Given the description of an element on the screen output the (x, y) to click on. 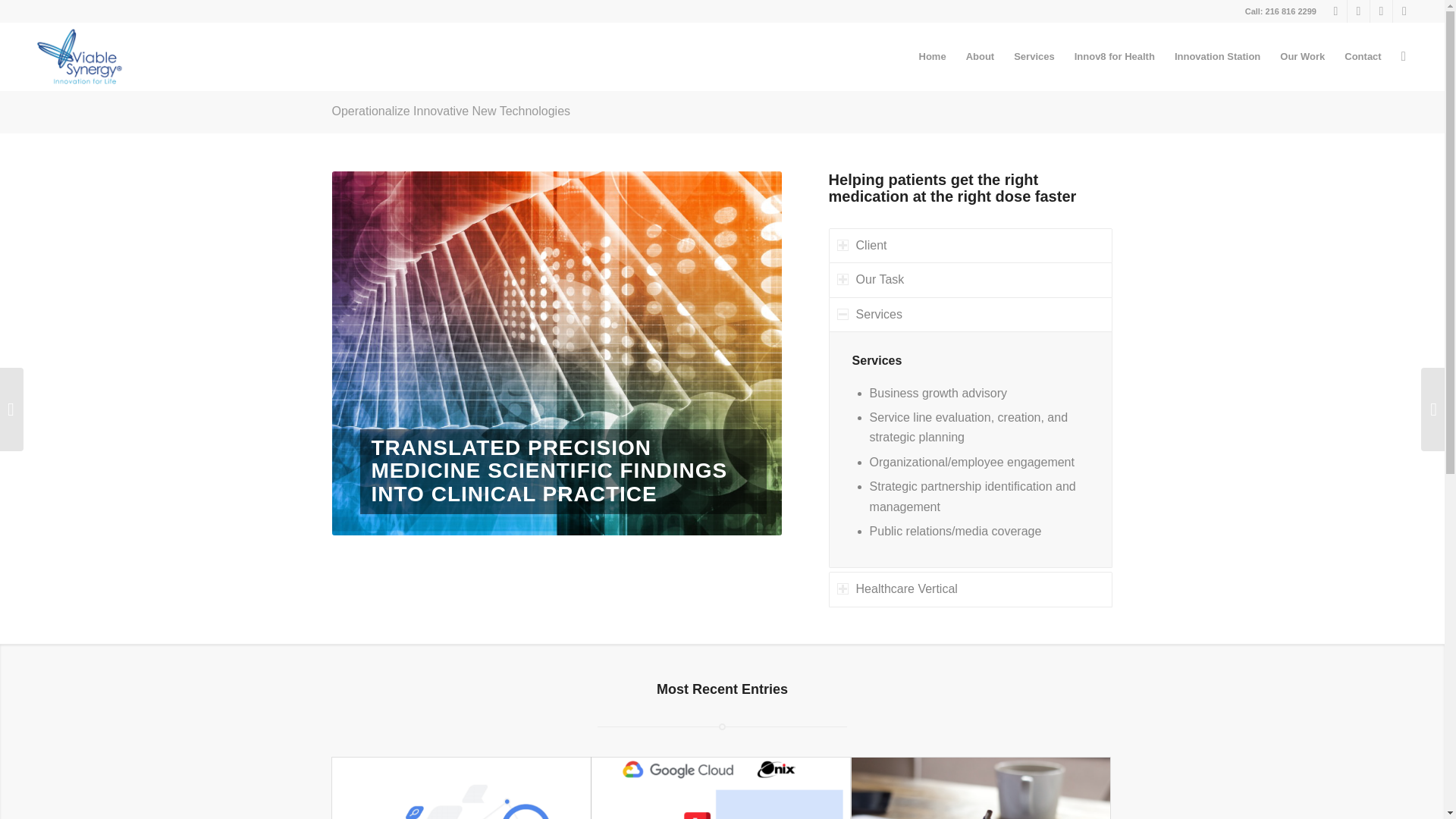
Linkedin (1404, 11)
Facebook (1359, 11)
Mail (1335, 11)
216 816 2299 (1290, 10)
Services (1034, 56)
Twitter (1380, 11)
Innov8 for Health (1114, 56)
Permanent Link: Operationalize Innovative New Technologies (450, 110)
Innovation Station (1216, 56)
Operationalize Innovative New Technologies (450, 110)
Our Work (1302, 56)
